Given the description of an element on the screen output the (x, y) to click on. 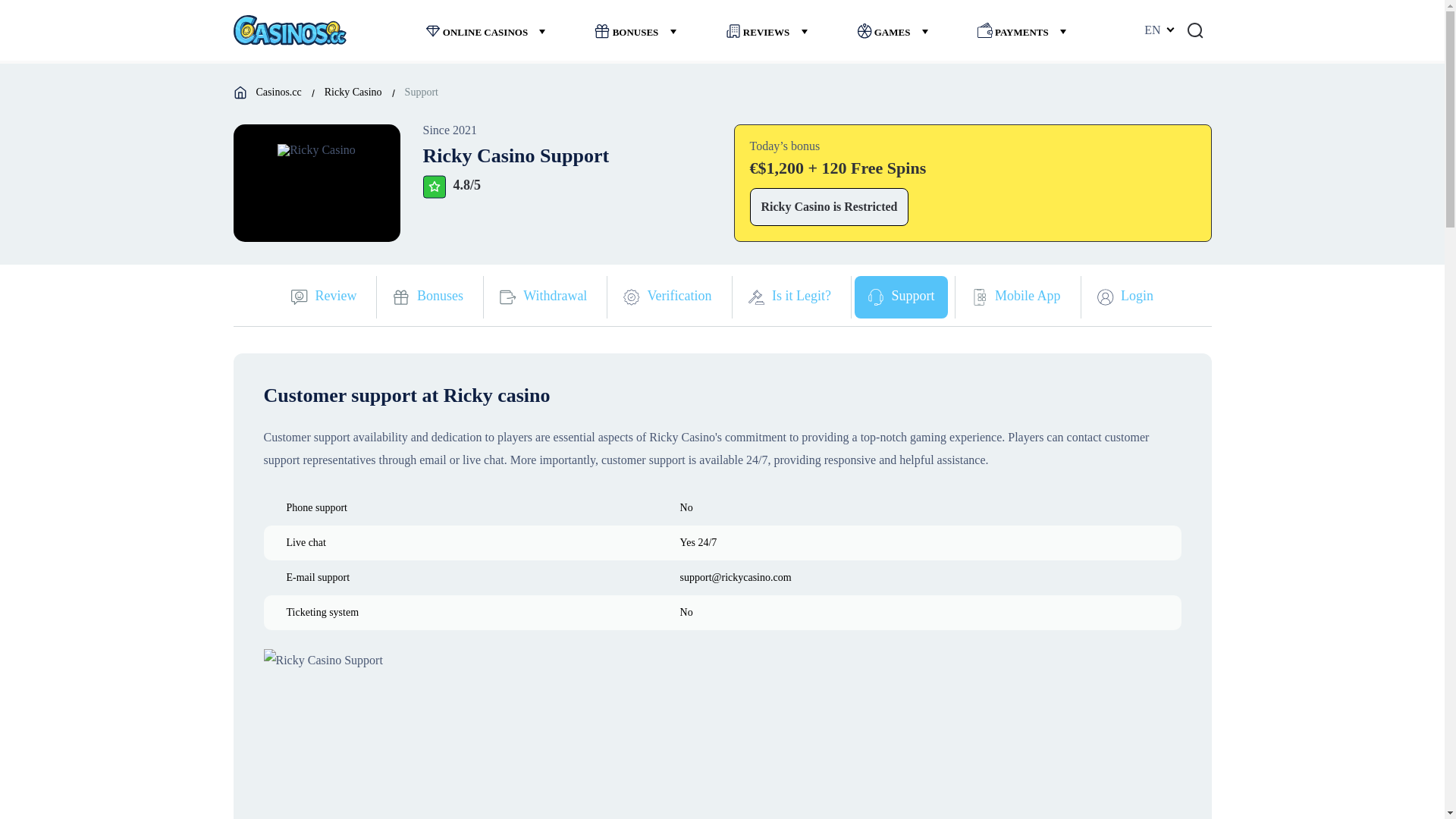
Go to Casinos.cc. (278, 91)
Go to Ricky Casino. (352, 91)
EN (1158, 29)
